Given the description of an element on the screen output the (x, y) to click on. 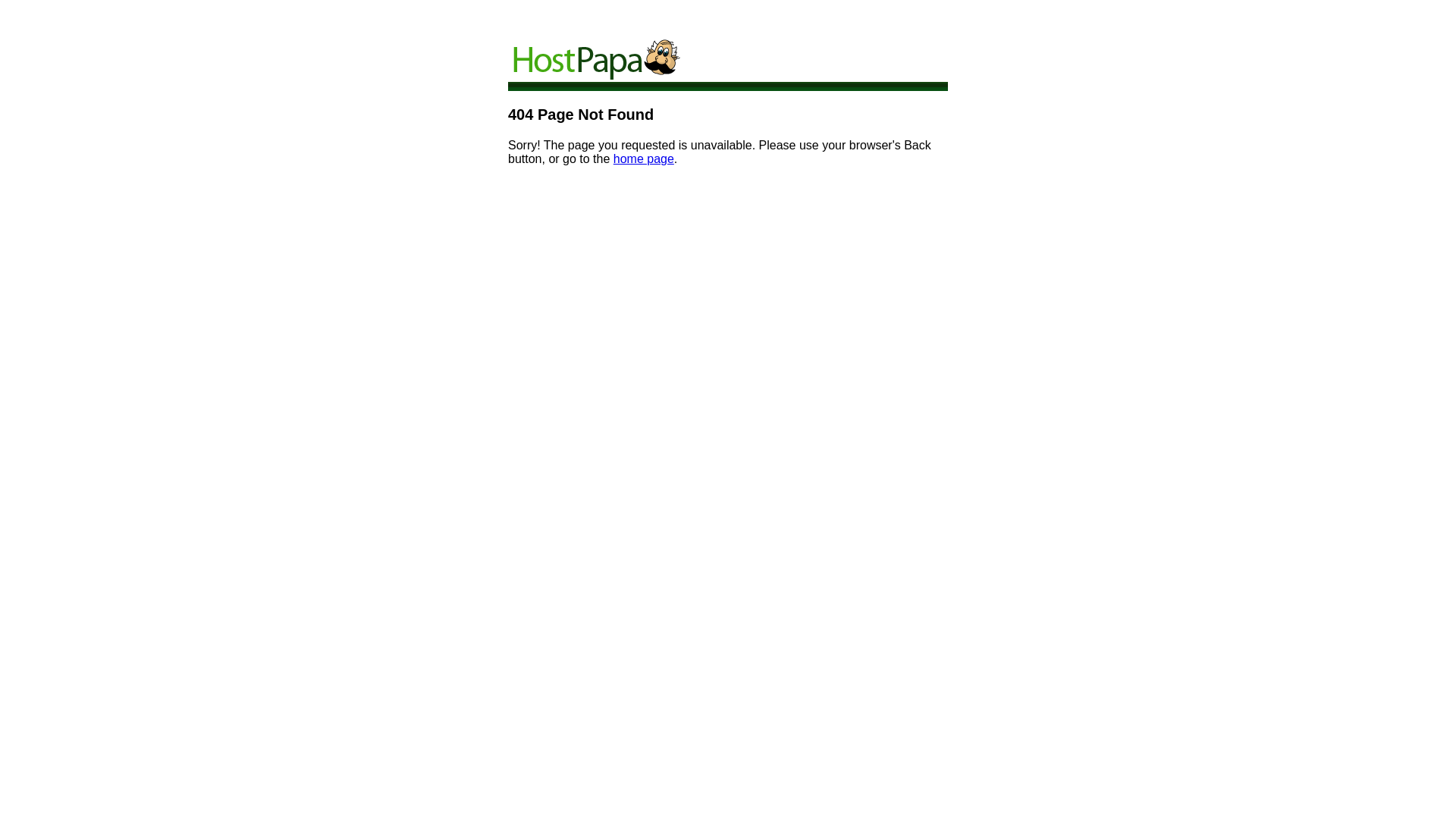
home page Element type: text (643, 158)
